Given the description of an element on the screen output the (x, y) to click on. 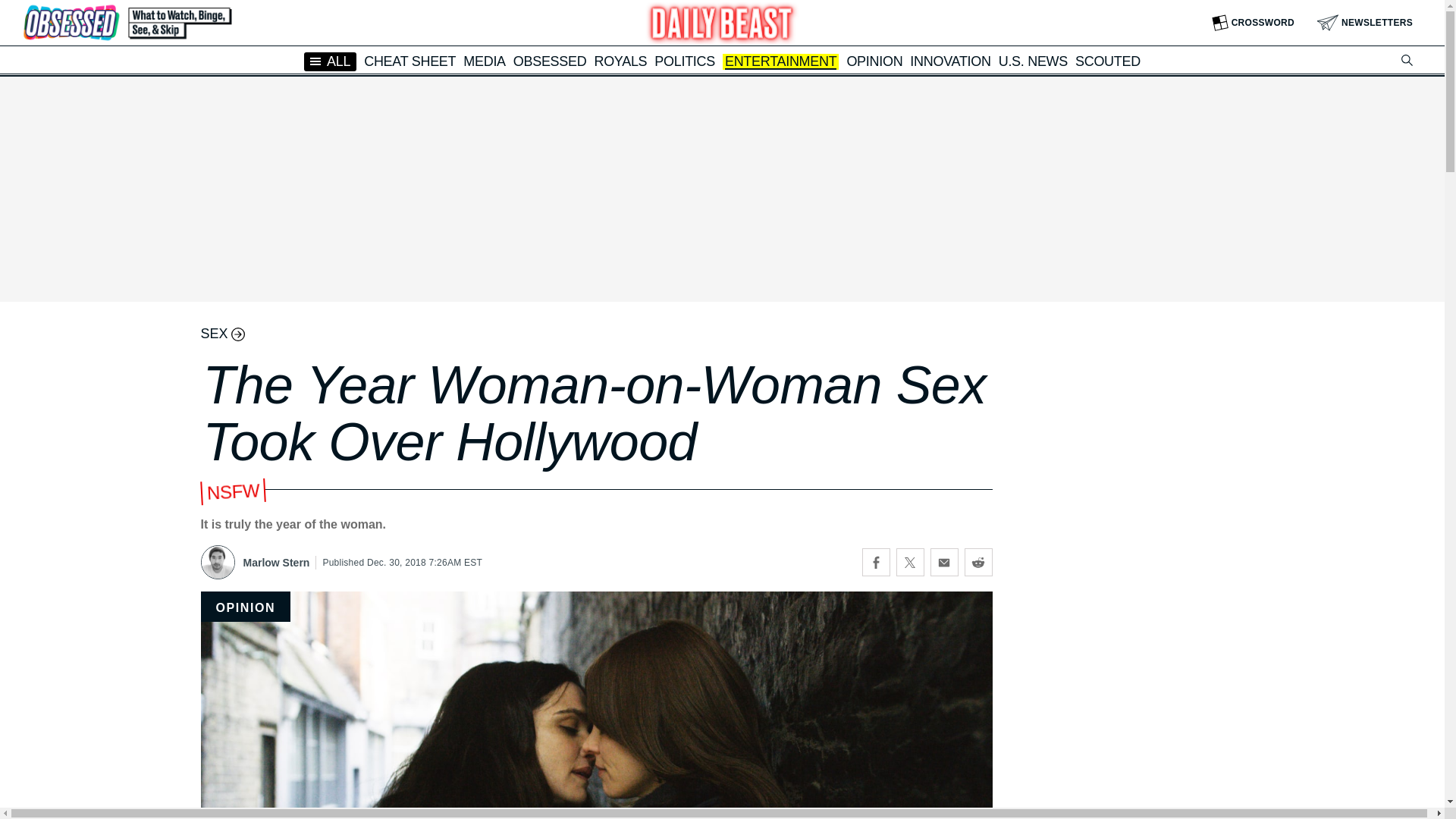
MEDIA (484, 60)
NEWSLETTERS (1364, 22)
POLITICS (683, 60)
OPINION (873, 60)
ALL (330, 60)
ENTERTAINMENT (780, 61)
CHEAT SHEET (409, 60)
INNOVATION (950, 60)
SCOUTED (1107, 60)
CROSSWORD (1252, 22)
